Given the description of an element on the screen output the (x, y) to click on. 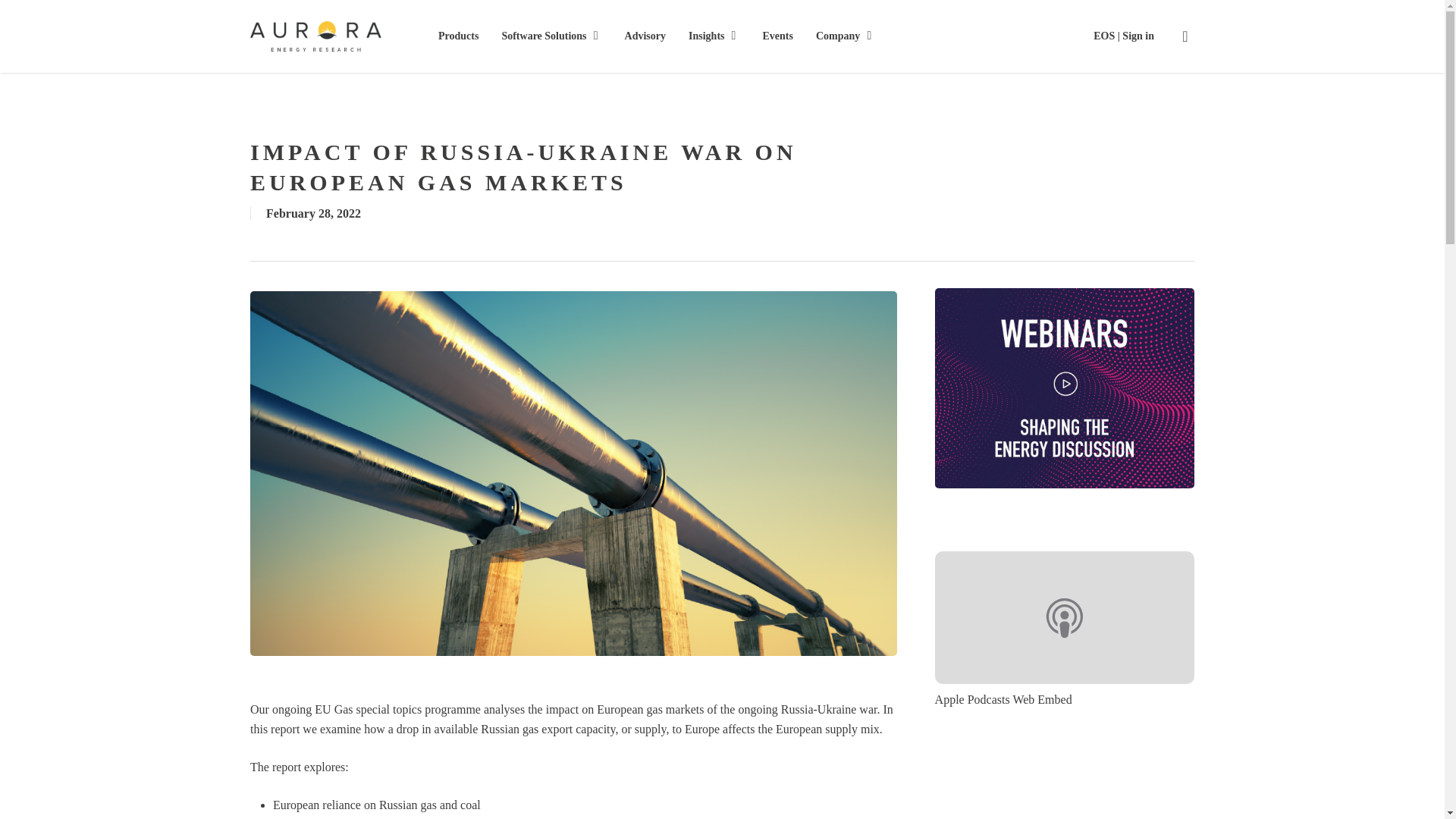
Software Solutions (550, 36)
Advisory (644, 36)
search (1184, 36)
Events (777, 36)
Products (458, 36)
Insights (713, 36)
Company (845, 36)
